Given the description of an element on the screen output the (x, y) to click on. 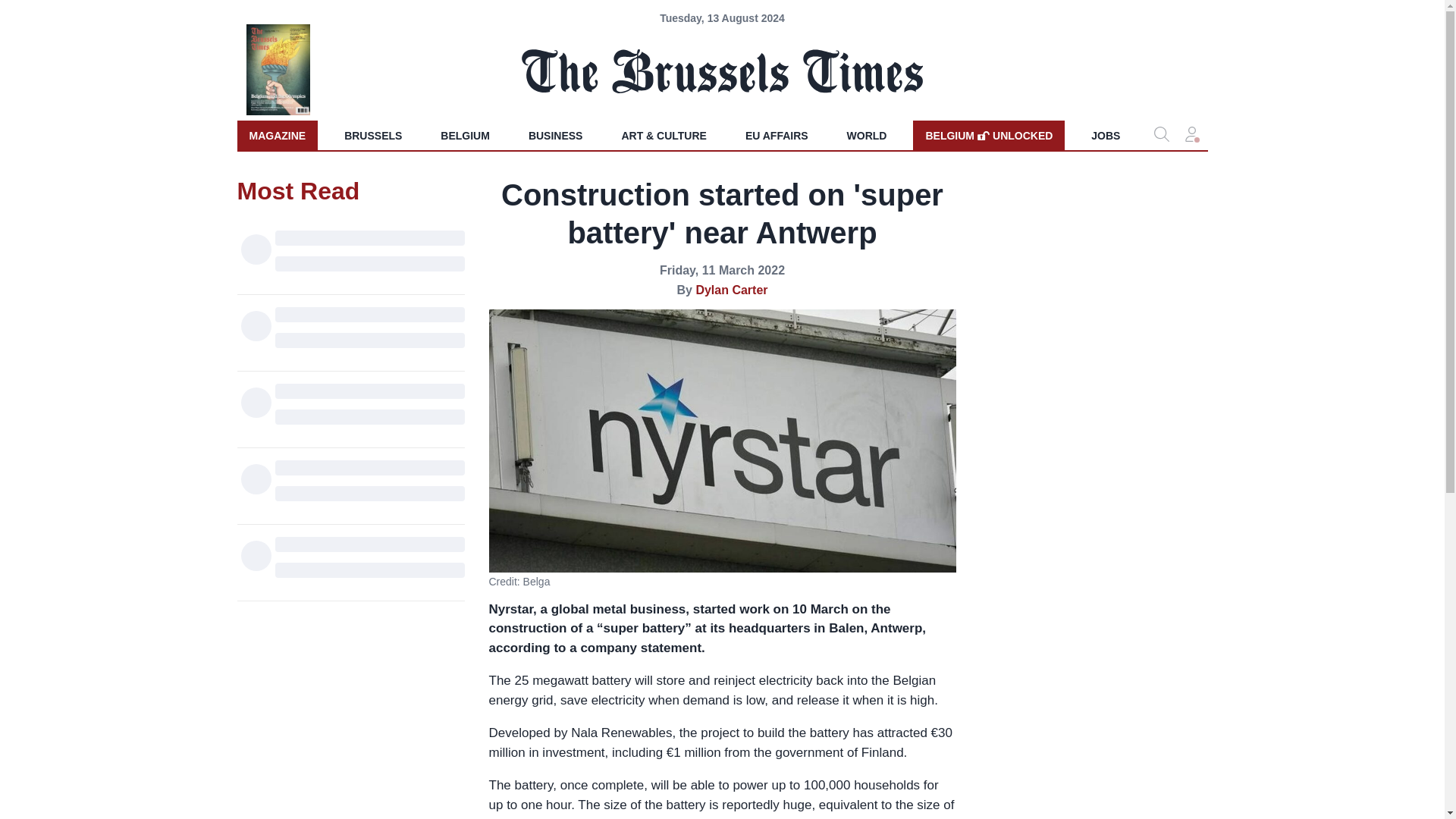
BELGIUM (465, 135)
BRUSSELS (372, 135)
Dylan Carter (731, 290)
BUSINESS (555, 135)
EU AFFAIRS (777, 135)
MAGAZINE (276, 135)
WORLD (988, 135)
JOBS (866, 135)
